Given the description of an element on the screen output the (x, y) to click on. 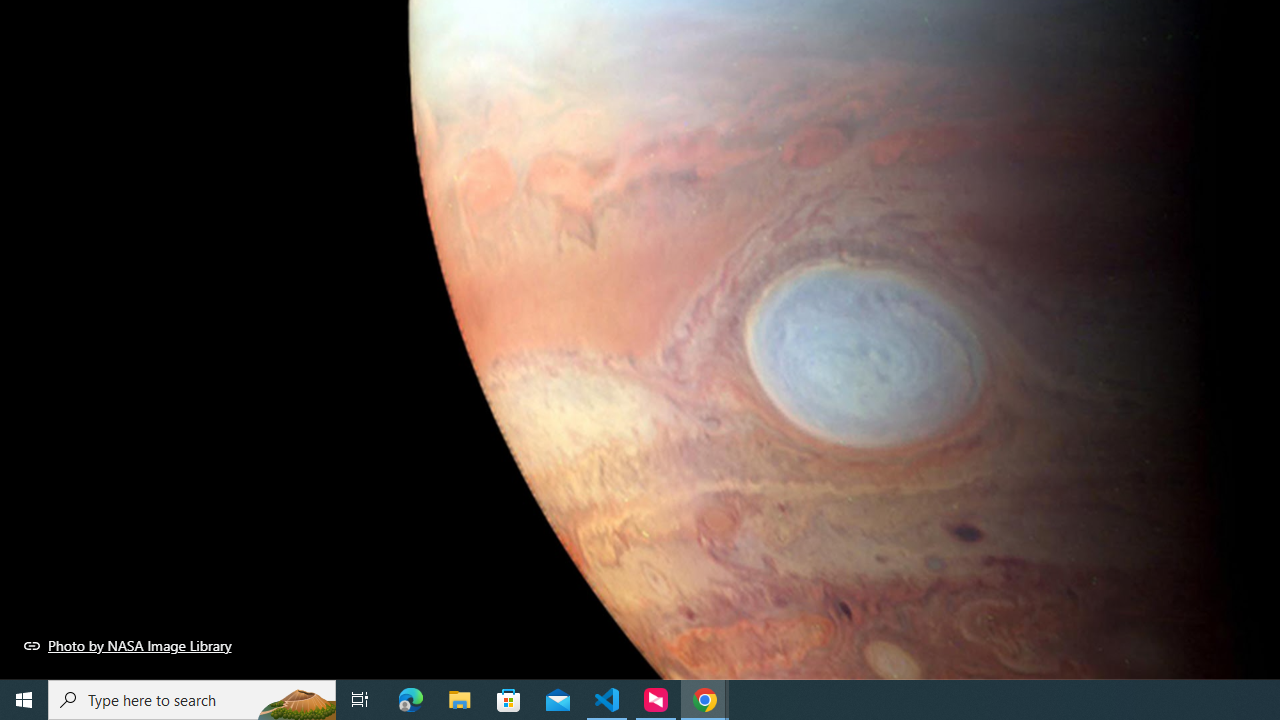
Photo by NASA Image Library (127, 645)
